Given the description of an element on the screen output the (x, y) to click on. 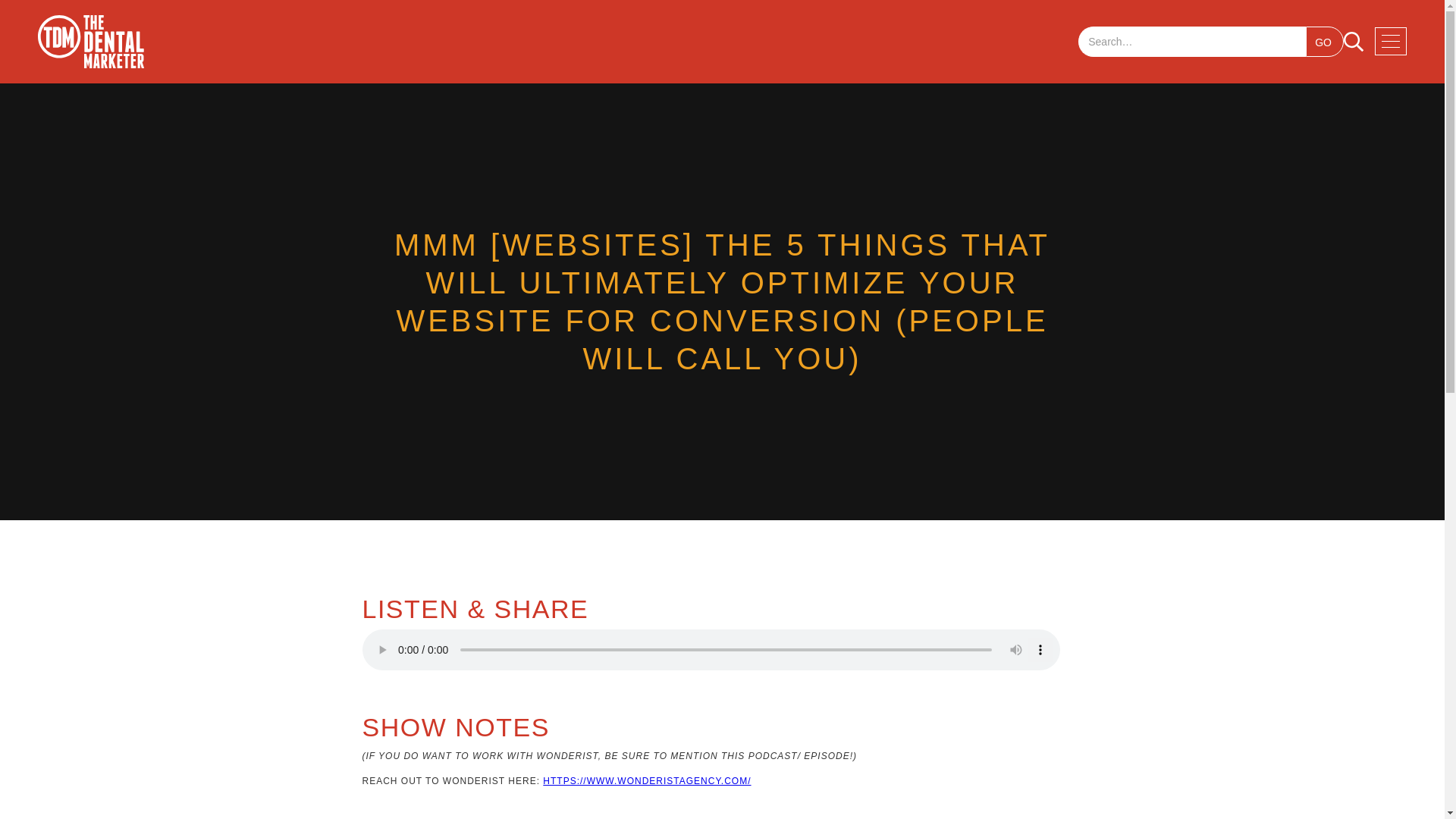
Go (1324, 41)
Go (1324, 41)
Go (1324, 41)
